Given the description of an element on the screen output the (x, y) to click on. 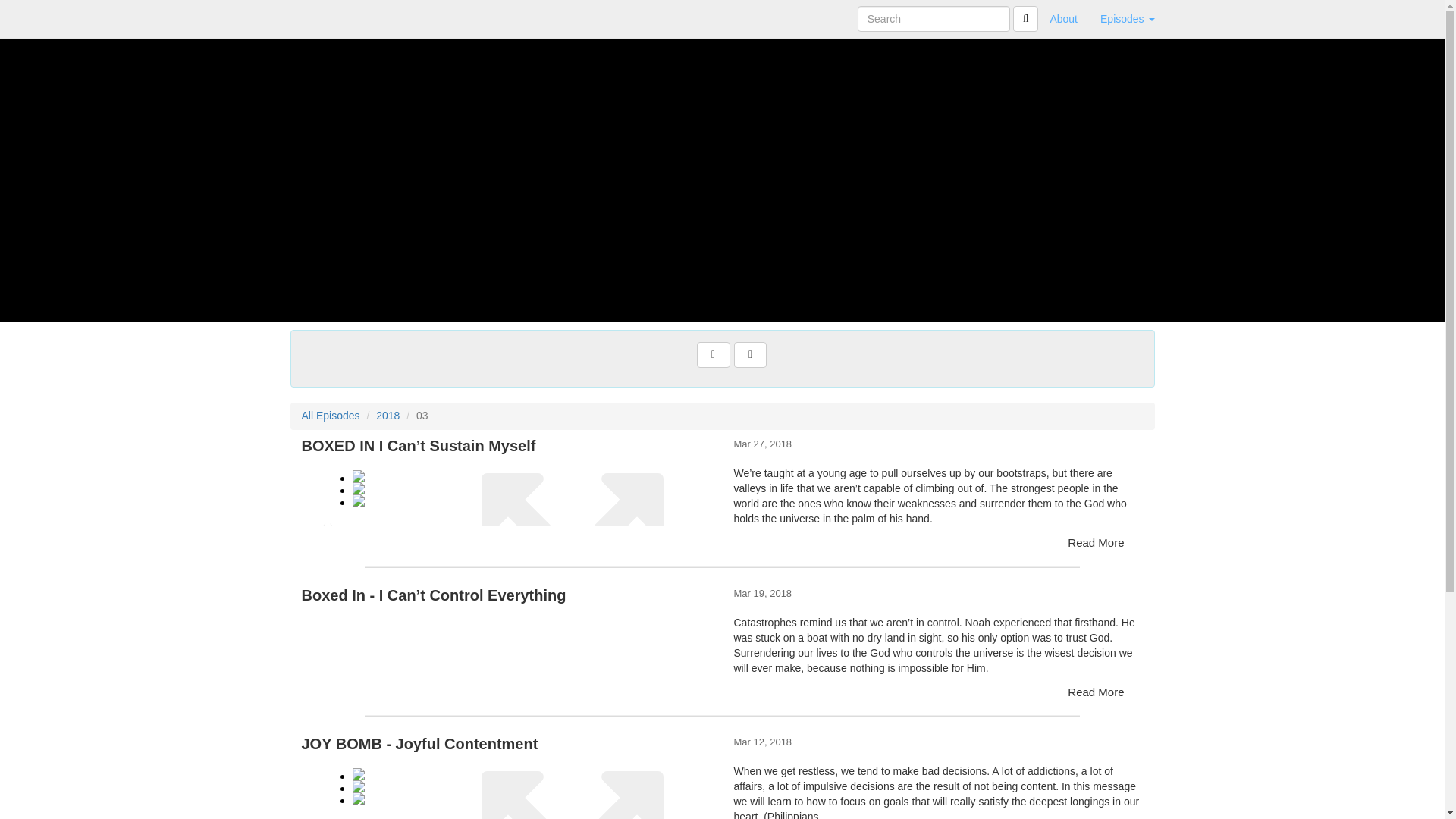
About (1063, 18)
Episodes (1127, 18)
JOY BOMB - Joyful Contentment  (506, 787)
Home Page (320, 18)
